Given the description of an element on the screen output the (x, y) to click on. 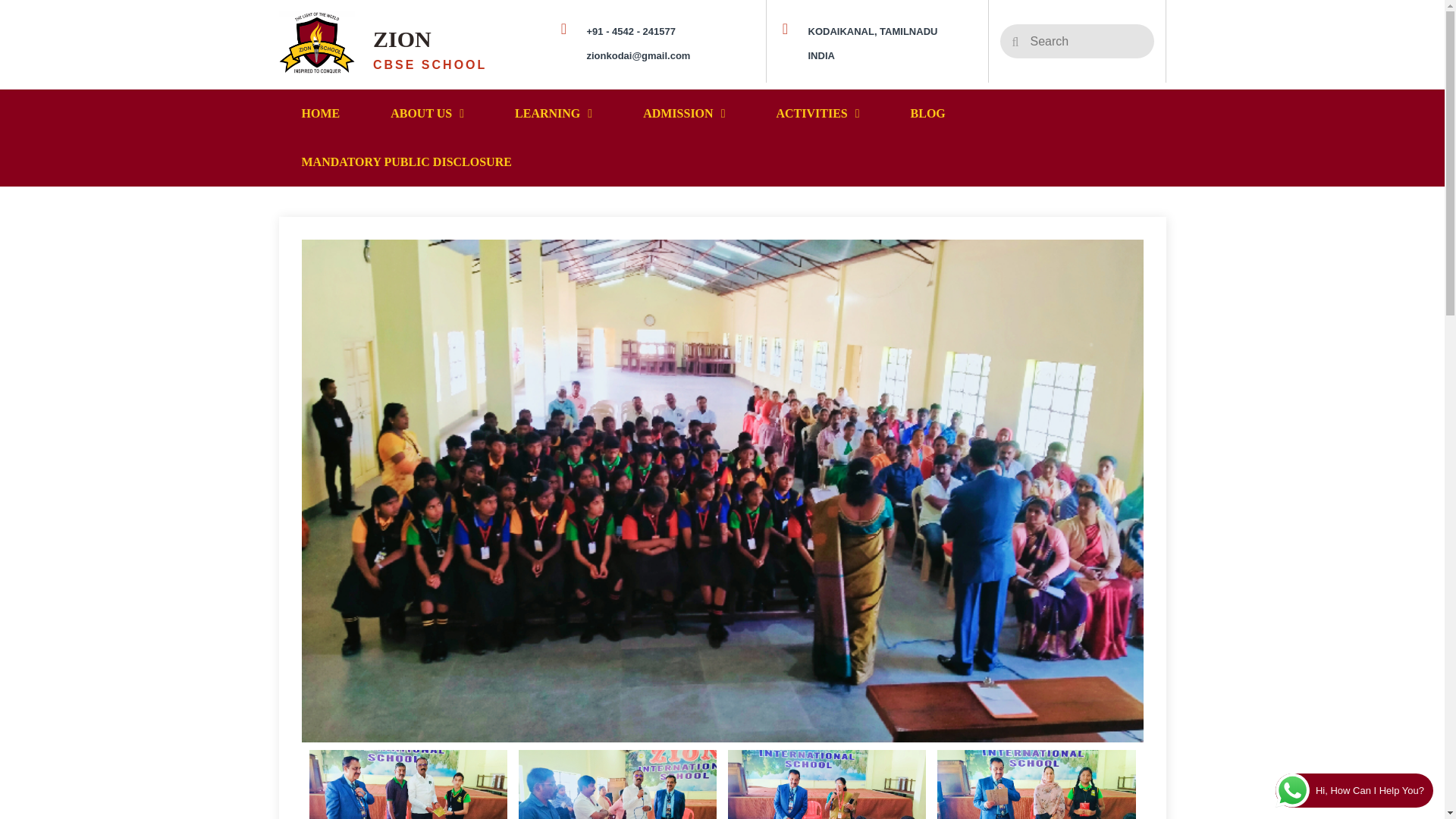
ZION (401, 38)
MANDATORY PUBLIC DISCLOSURE (409, 162)
ABOUT US (430, 113)
BLOG (931, 113)
LEARNING (556, 113)
ADMISSION (686, 113)
ACTIVITIES (819, 113)
HOME (323, 113)
